Given the description of an element on the screen output the (x, y) to click on. 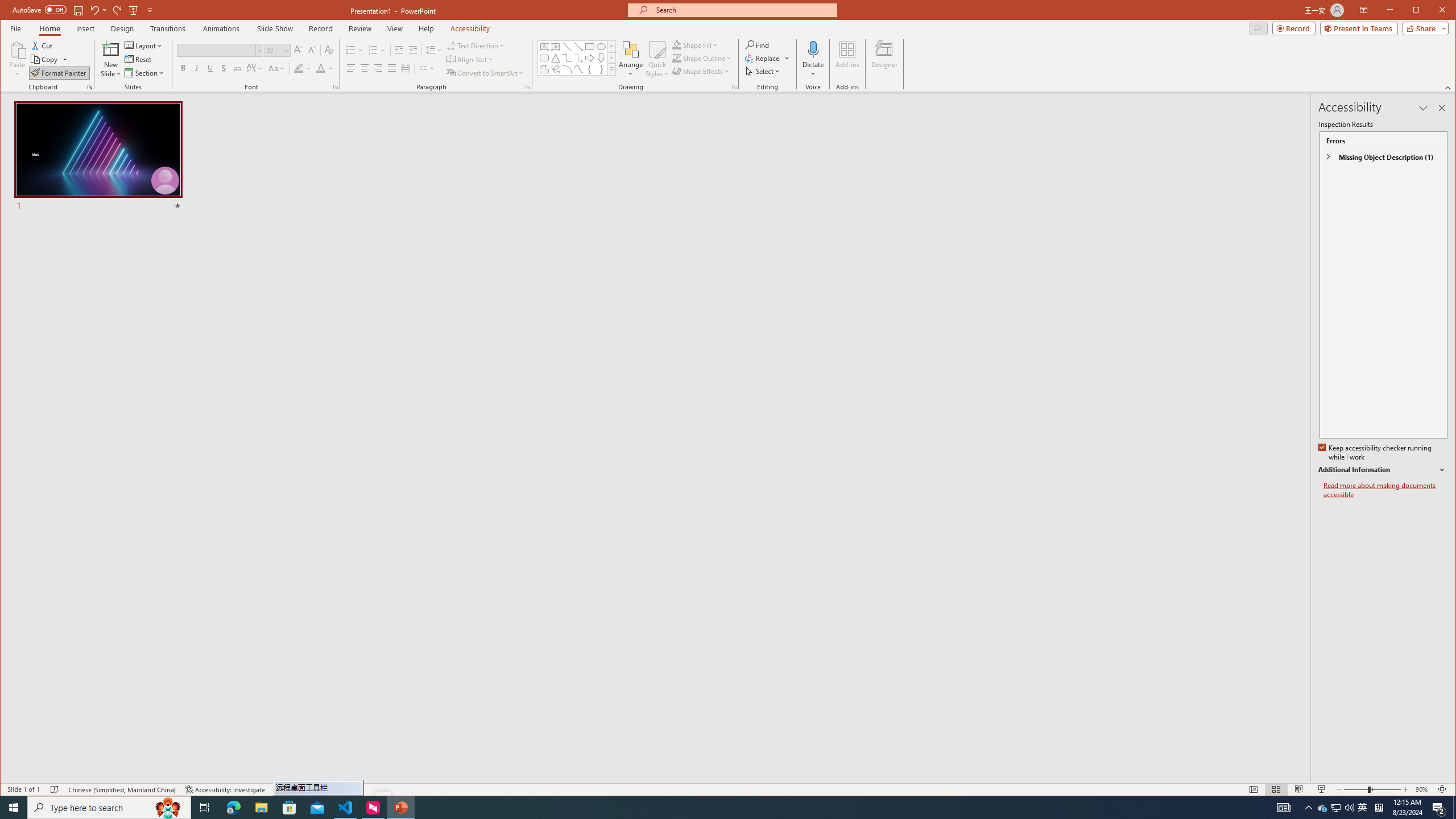
Additional Information (1382, 469)
